Given the description of an element on the screen output the (x, y) to click on. 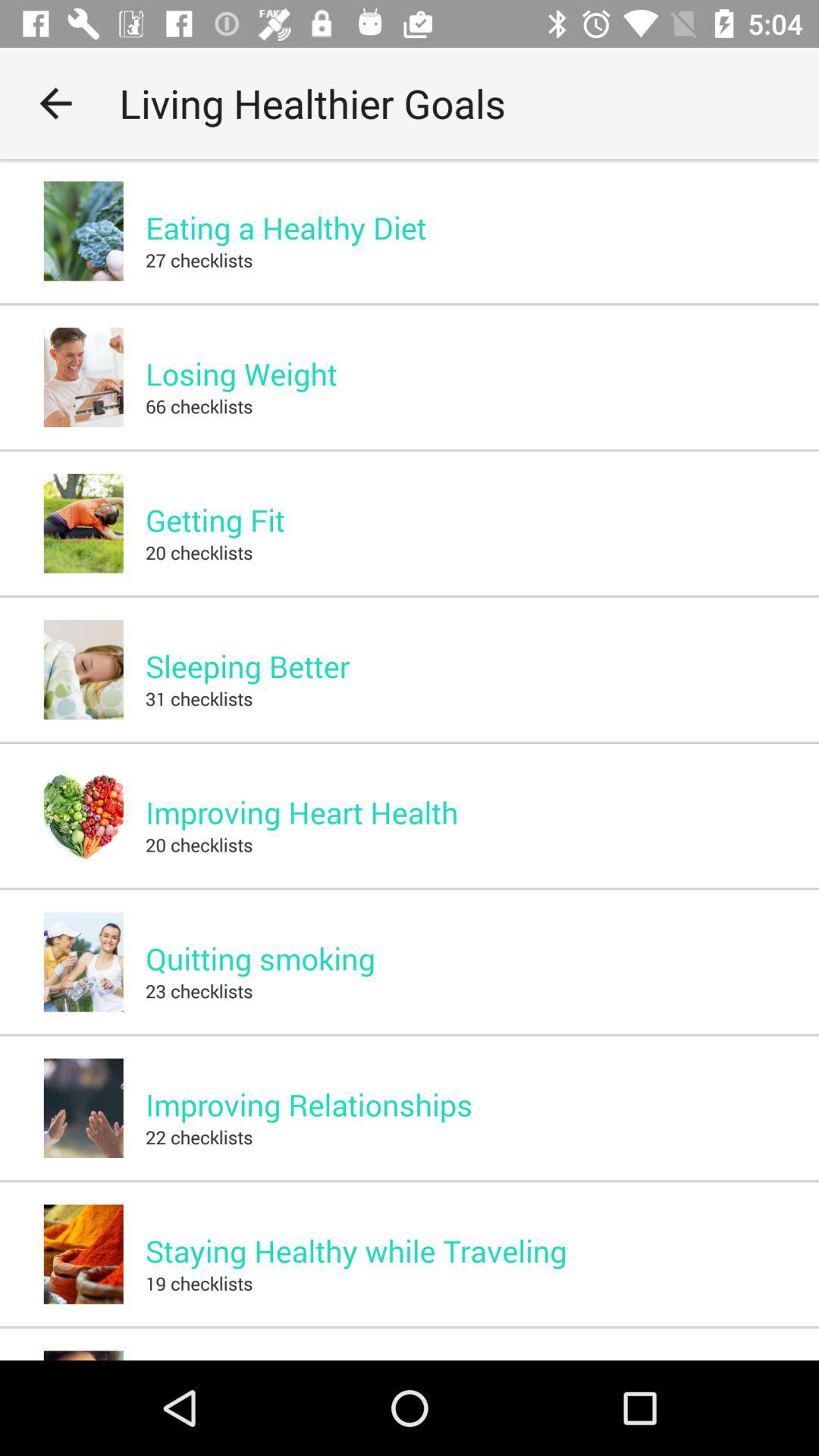
open icon next to the living healthier goals app (55, 103)
